Given the description of an element on the screen output the (x, y) to click on. 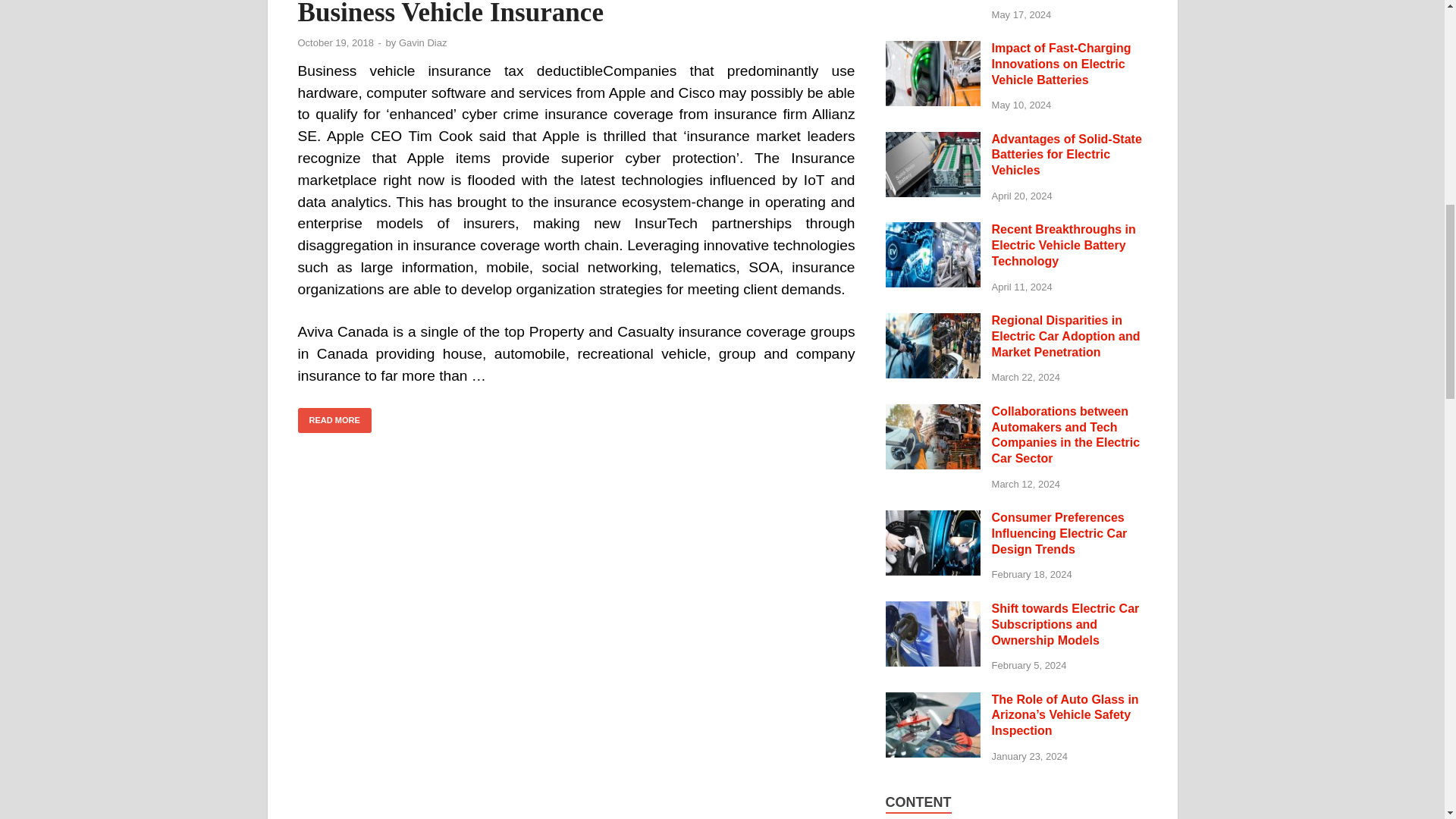
Advantages of Solid-State Batteries for Electric Vehicles (932, 140)
Consumer Preferences Influencing Electric Car Design Trends (932, 518)
Recent Breakthroughs in Electric Vehicle Battery Technology (932, 230)
